Given the description of an element on the screen output the (x, y) to click on. 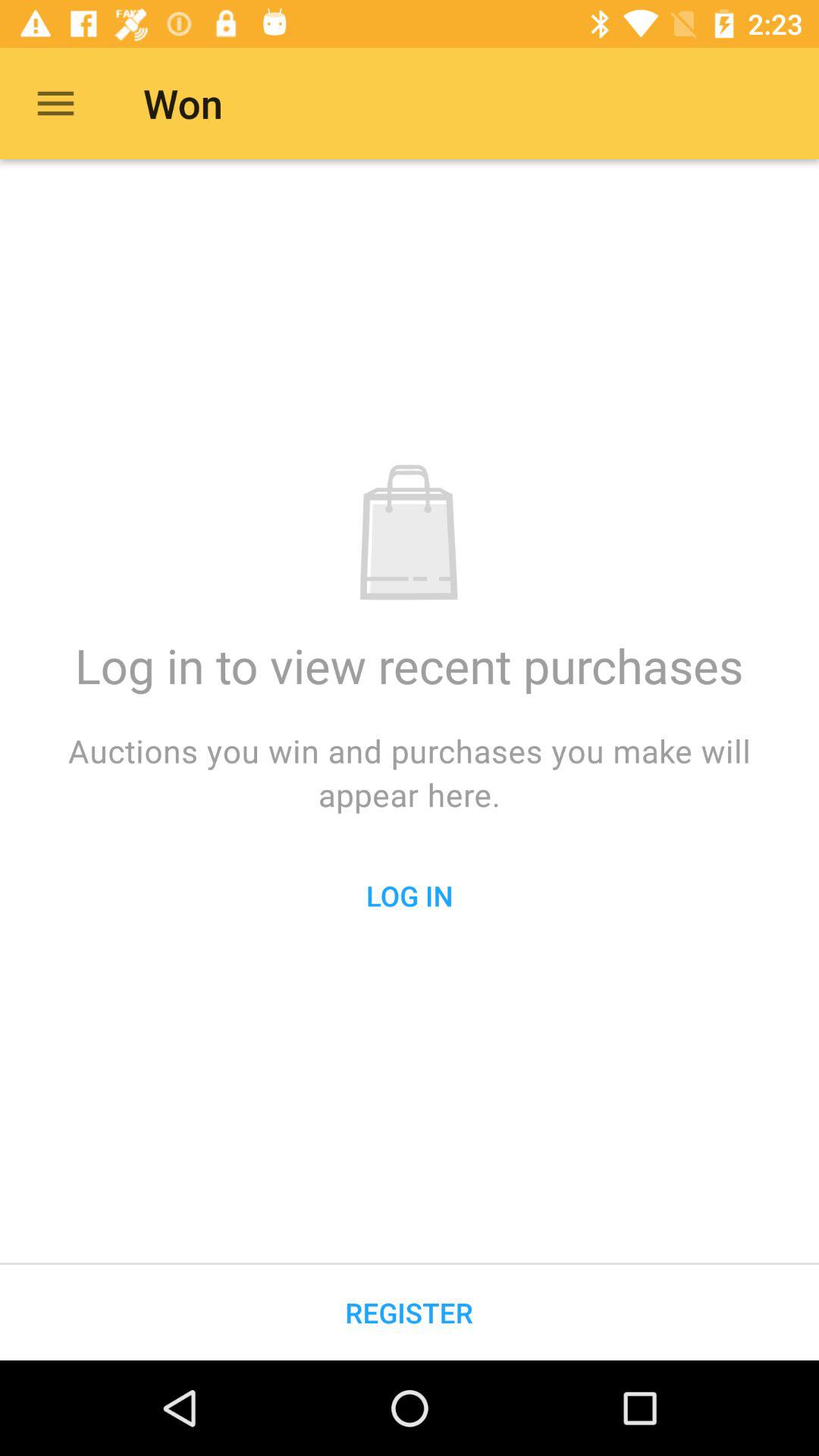
launch the item to the left of the won icon (55, 103)
